Given the description of an element on the screen output the (x, y) to click on. 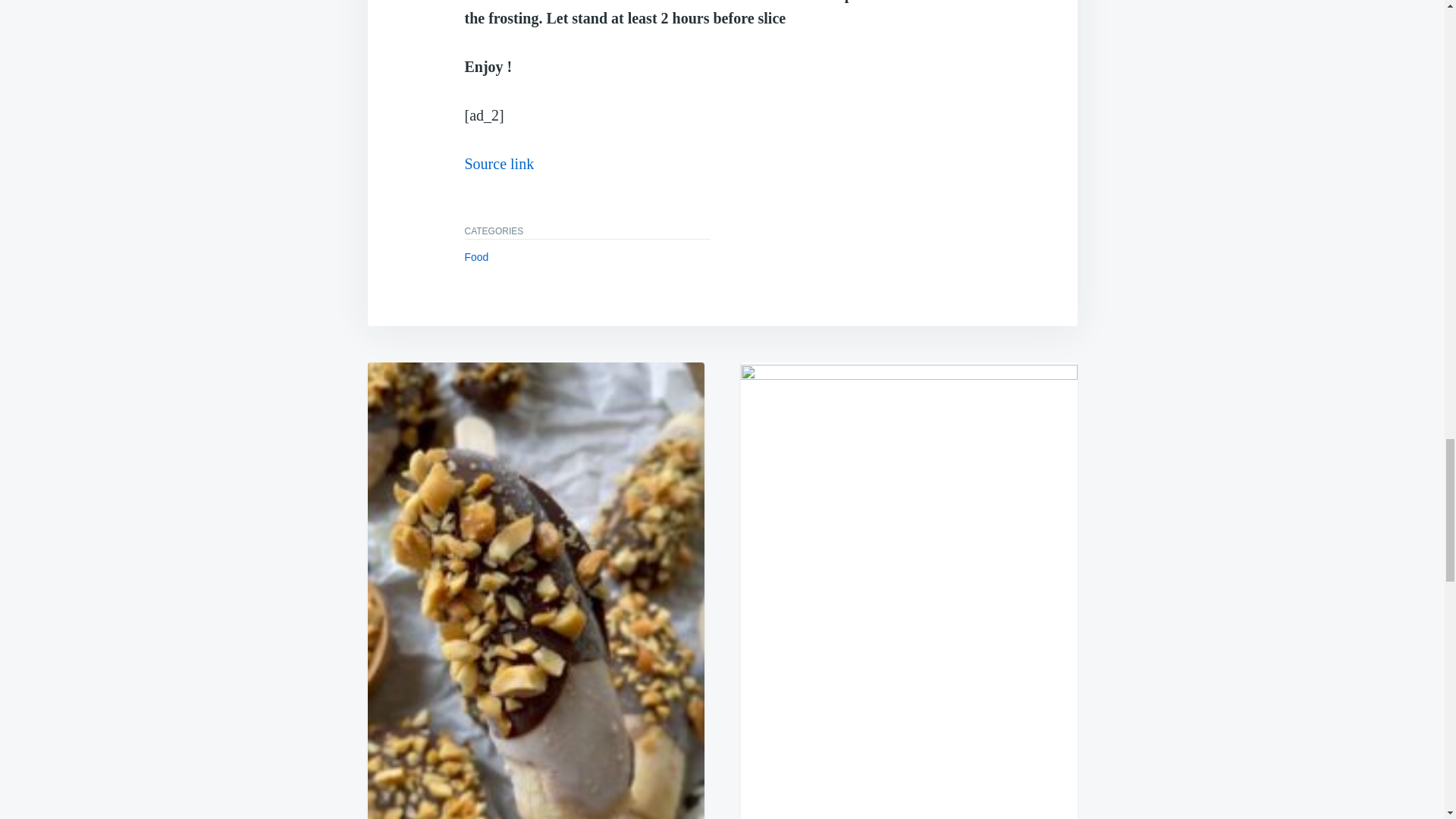
Food (475, 256)
Source link (499, 163)
